Given the description of an element on the screen output the (x, y) to click on. 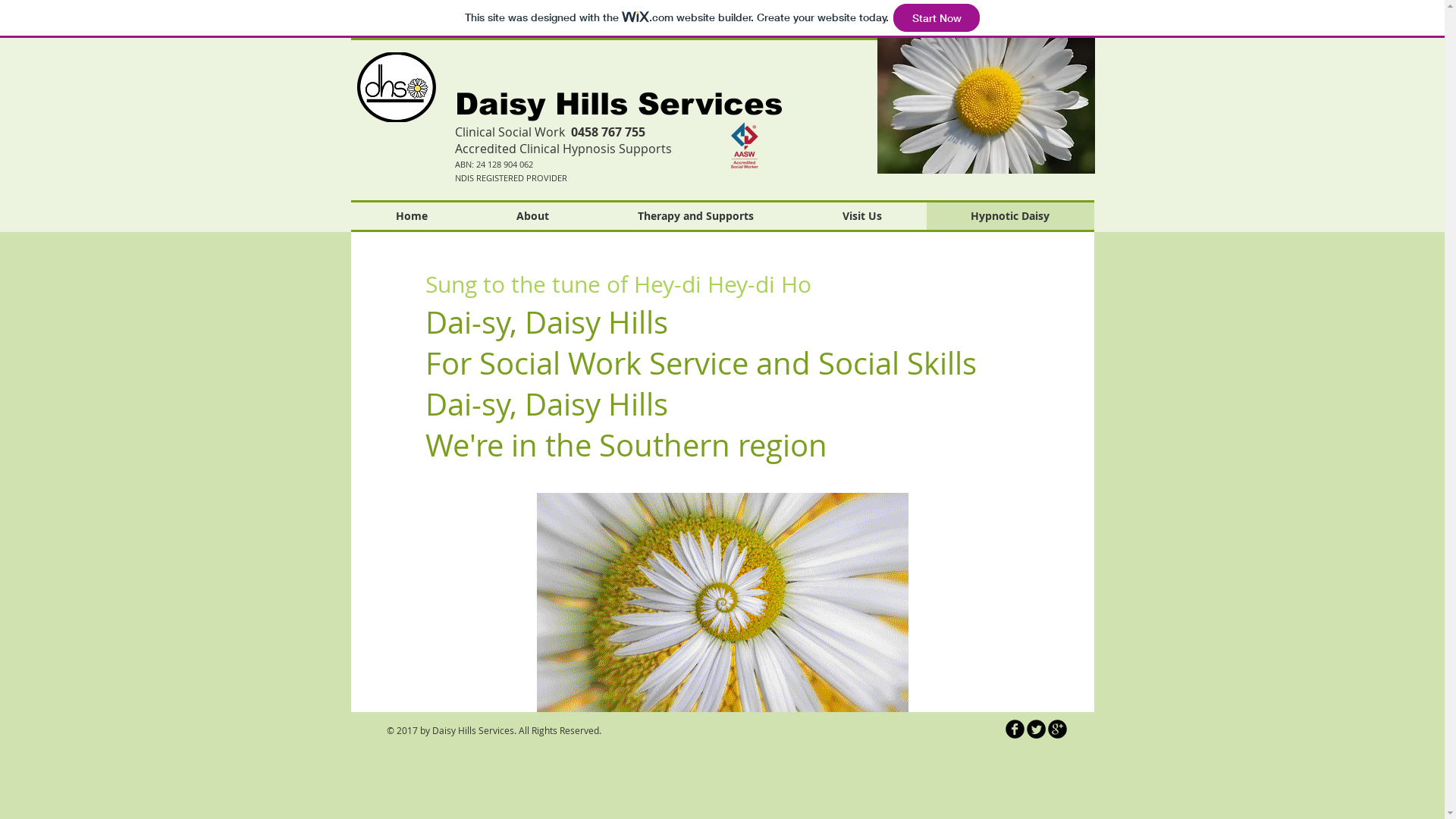
Daisy Hills Services Element type: text (618, 103)
Accredited Clinical Hypnosis Supports Element type: text (563, 149)
ABN: 24 128 904 062 Element type: text (494, 163)
Home Element type: text (410, 215)
Therapy and Supports Element type: text (695, 215)
Clinical Social Work  0458 767 755 Element type: text (550, 132)
Hypnotic Daisy Element type: text (1010, 215)
Visit Us Element type: text (861, 215)
About Element type: text (532, 215)
